Given the description of an element on the screen output the (x, y) to click on. 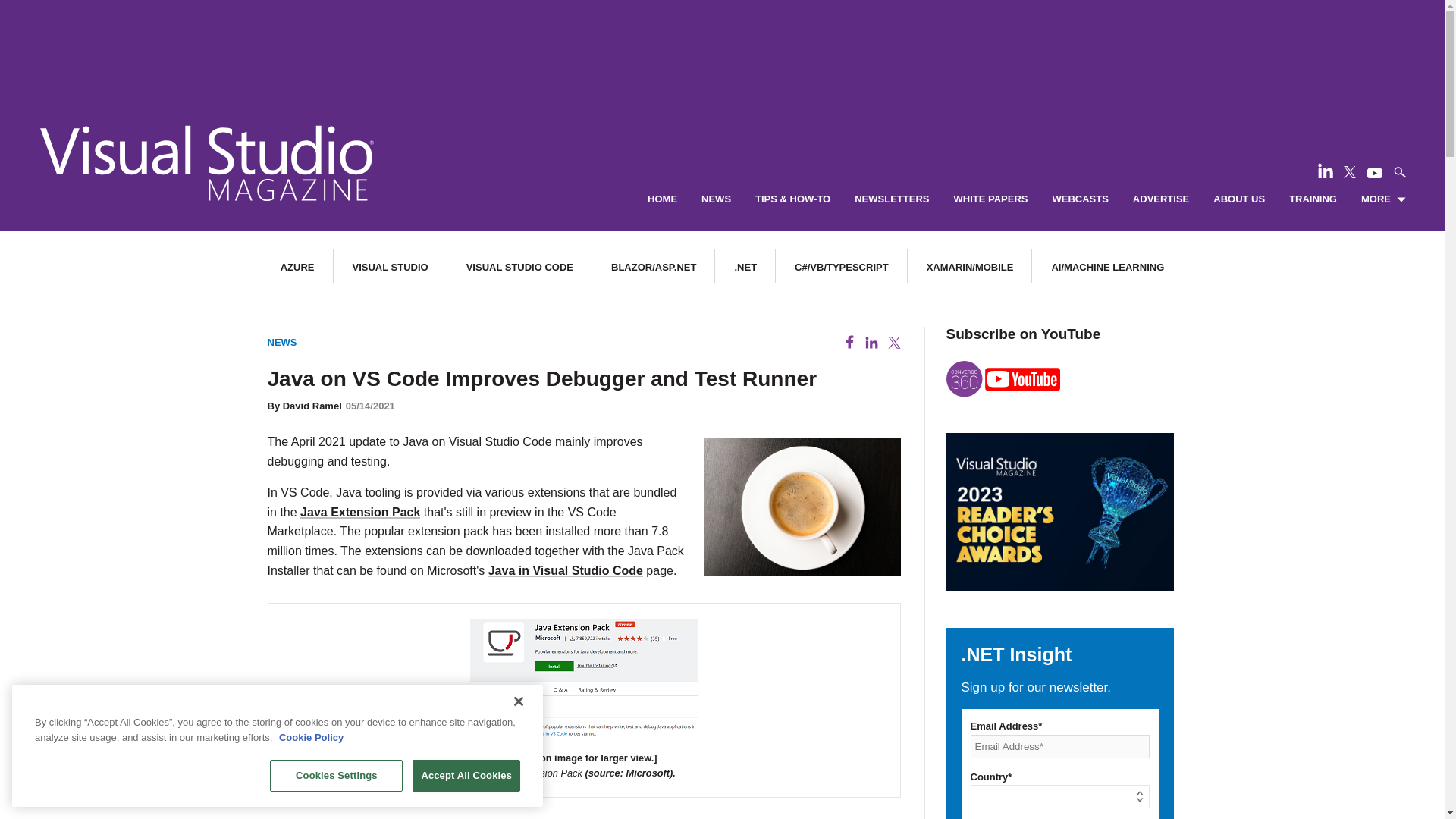
WHITE PAPERS (990, 199)
3rd party ad content (721, 45)
WEBCASTS (1079, 199)
MORE (1383, 199)
ADVERTISE (1160, 199)
NEWSLETTERS (891, 199)
VISUAL STUDIO (390, 266)
AZURE (297, 266)
HOME (662, 199)
NEWS (715, 199)
TRAINING (1312, 199)
ABOUT US (1238, 199)
.NET (745, 266)
VISUAL STUDIO CODE (519, 266)
